Given the description of an element on the screen output the (x, y) to click on. 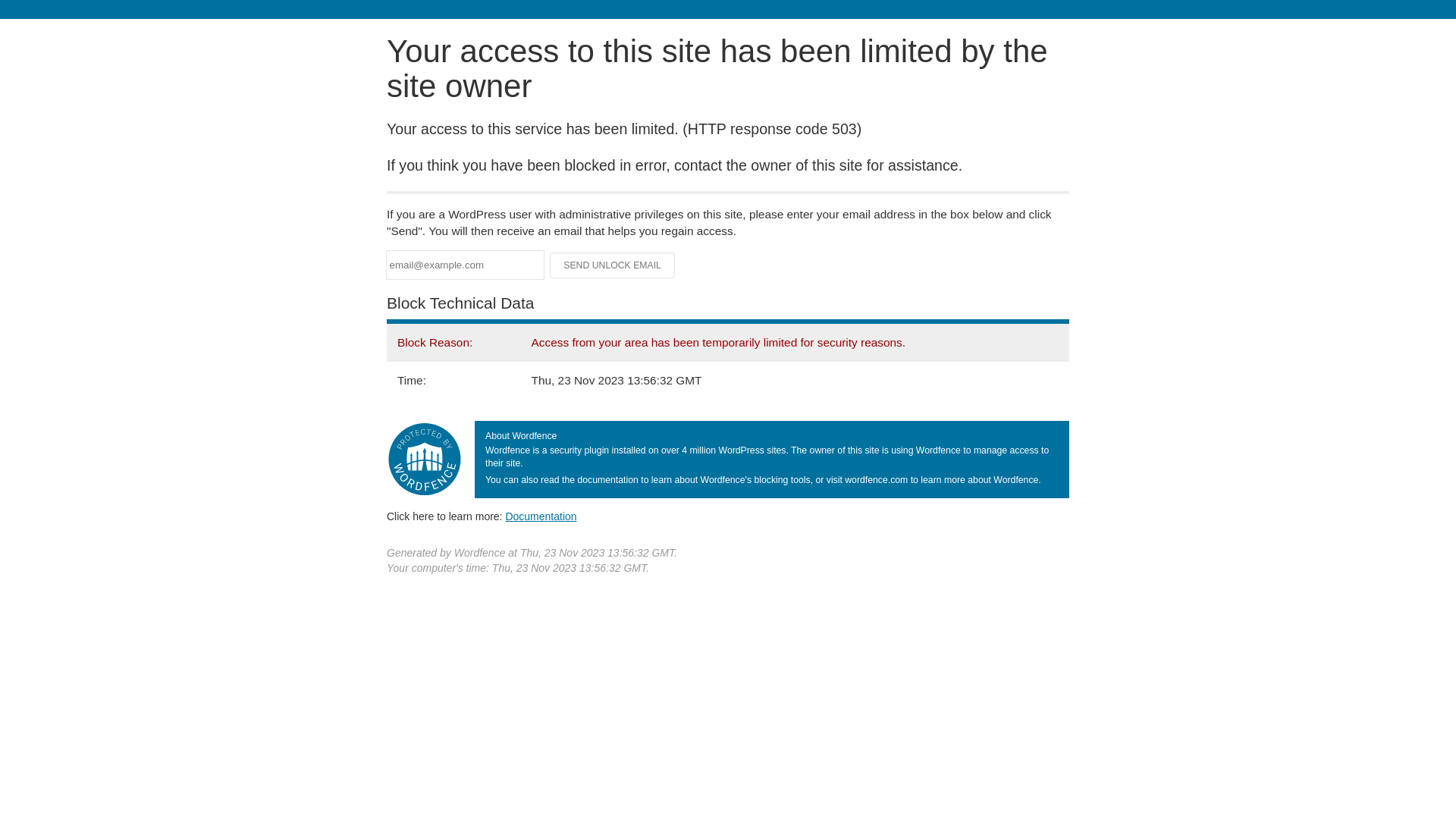
Documentation Element type: text (540, 516)
Send Unlock Email Element type: text (612, 265)
